Given the description of an element on the screen output the (x, y) to click on. 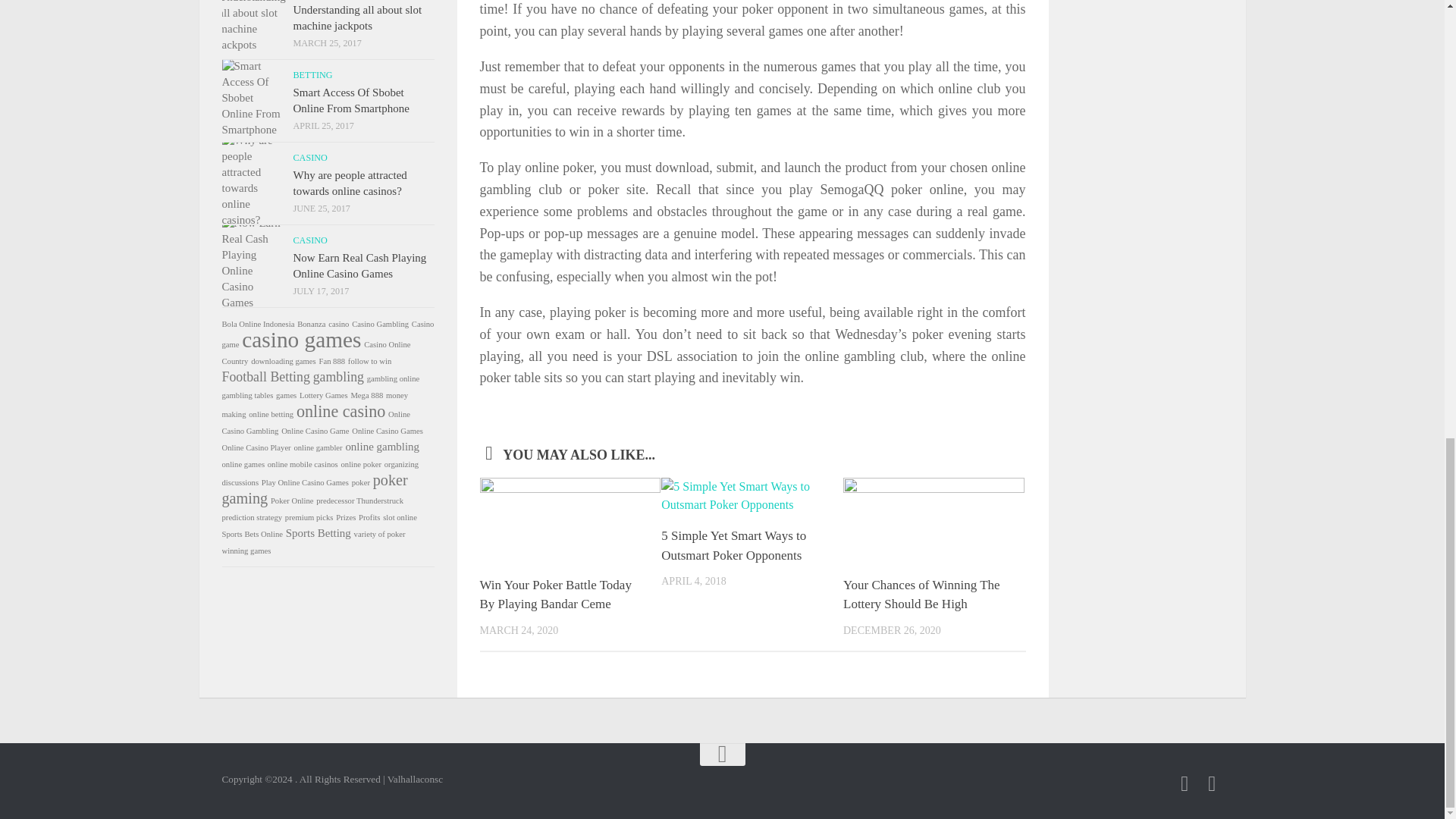
5 Simple Yet Smart Ways to Outsmart Poker Opponents (733, 545)
Your Chances of Winning The Lottery Should Be High (921, 594)
Win Your Poker Battle Today By Playing Bandar Ceme (554, 594)
